Given the description of an element on the screen output the (x, y) to click on. 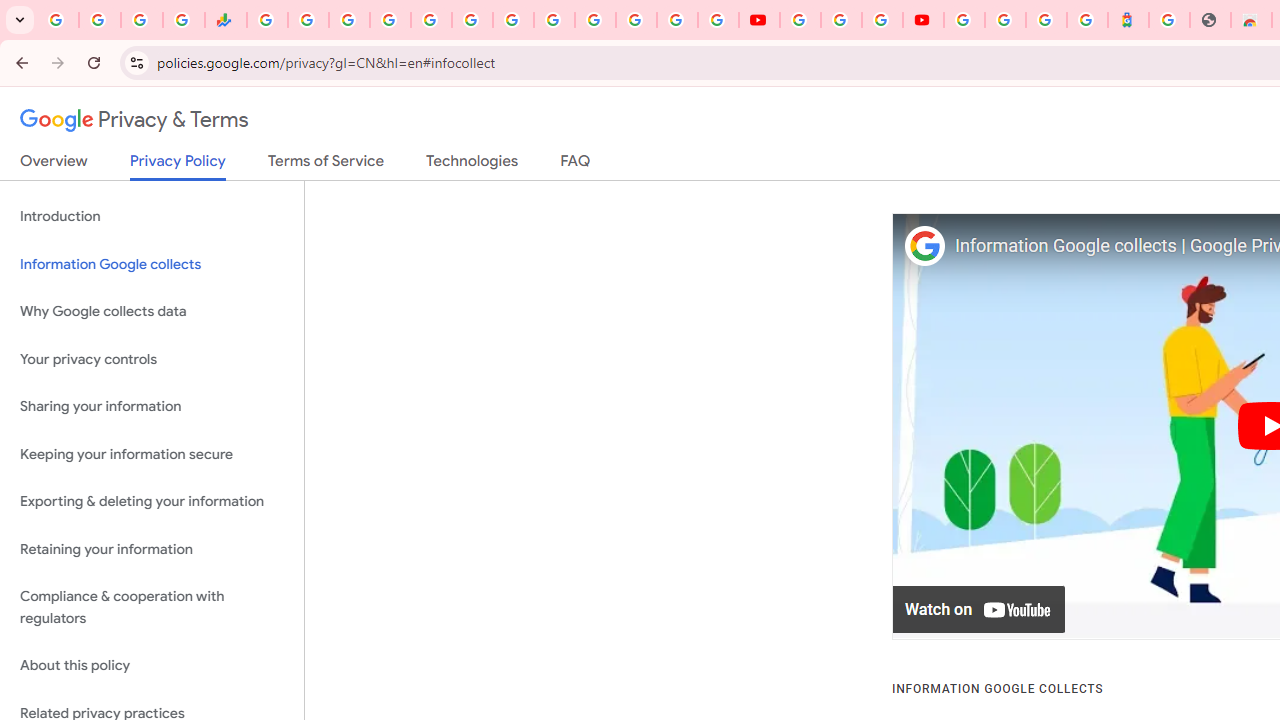
Android TV Policies and Guidelines - Transparency Center (512, 20)
Photo image of Google (924, 246)
Sign in - Google Accounts (1005, 20)
YouTube (799, 20)
Why Google collects data (152, 312)
Privacy Checkup (717, 20)
About this policy (152, 666)
